Given the description of an element on the screen output the (x, y) to click on. 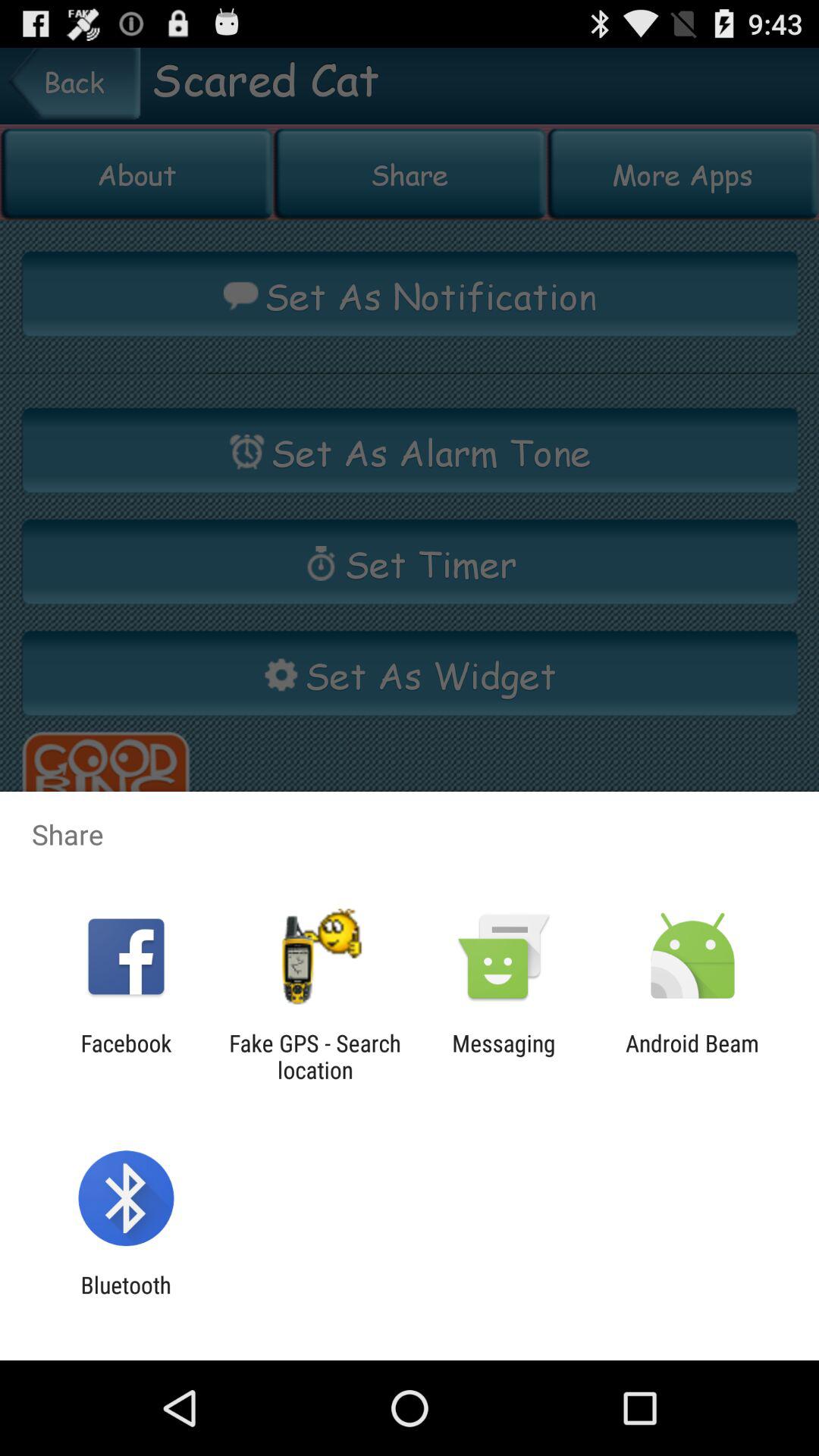
turn on the app next to messaging app (314, 1056)
